Given the description of an element on the screen output the (x, y) to click on. 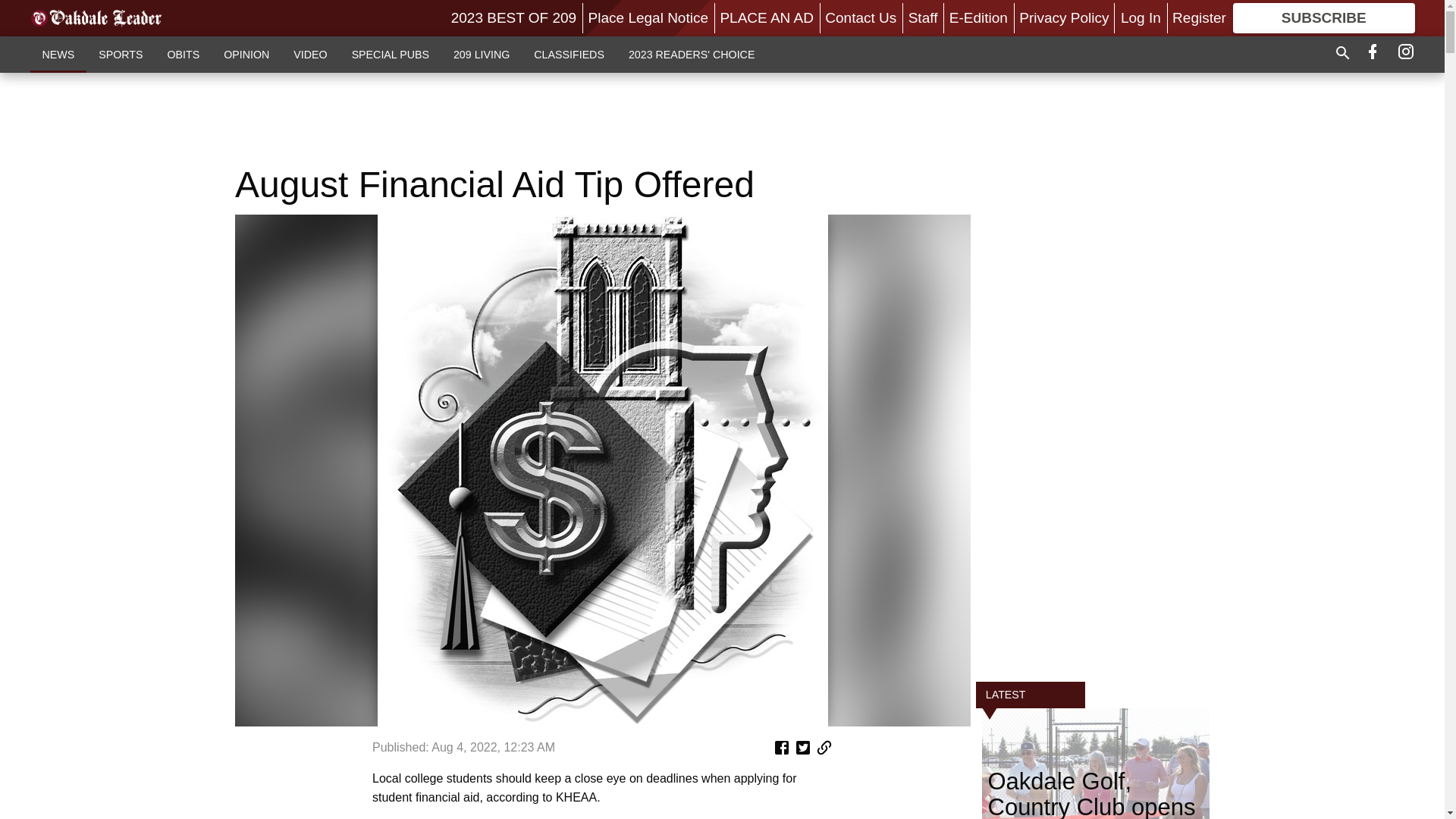
Place Legal Notice (647, 17)
Register (1198, 17)
Log In (1140, 17)
OBITS (182, 54)
Staff (922, 17)
OPINION (246, 54)
SPECIAL PUBS (390, 54)
VIDEO (310, 54)
SPORTS (119, 54)
CLASSIFIEDS (568, 54)
2023 READERS' CHOICE (691, 54)
209 LIVING (481, 54)
E-Edition (978, 17)
SUBSCRIBE (1324, 18)
2023 BEST OF 209 (513, 17)
